Given the description of an element on the screen output the (x, y) to click on. 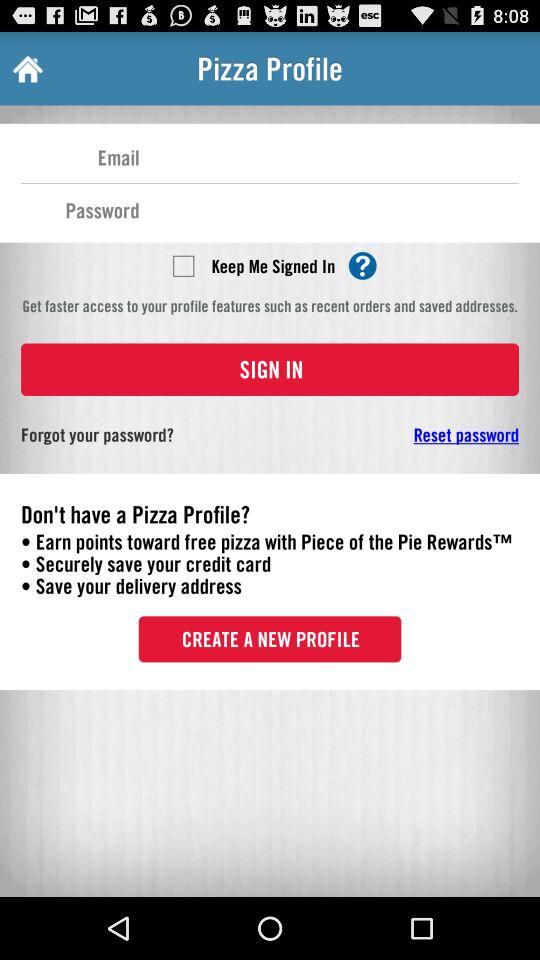
enter email address (329, 156)
